Given the description of an element on the screen output the (x, y) to click on. 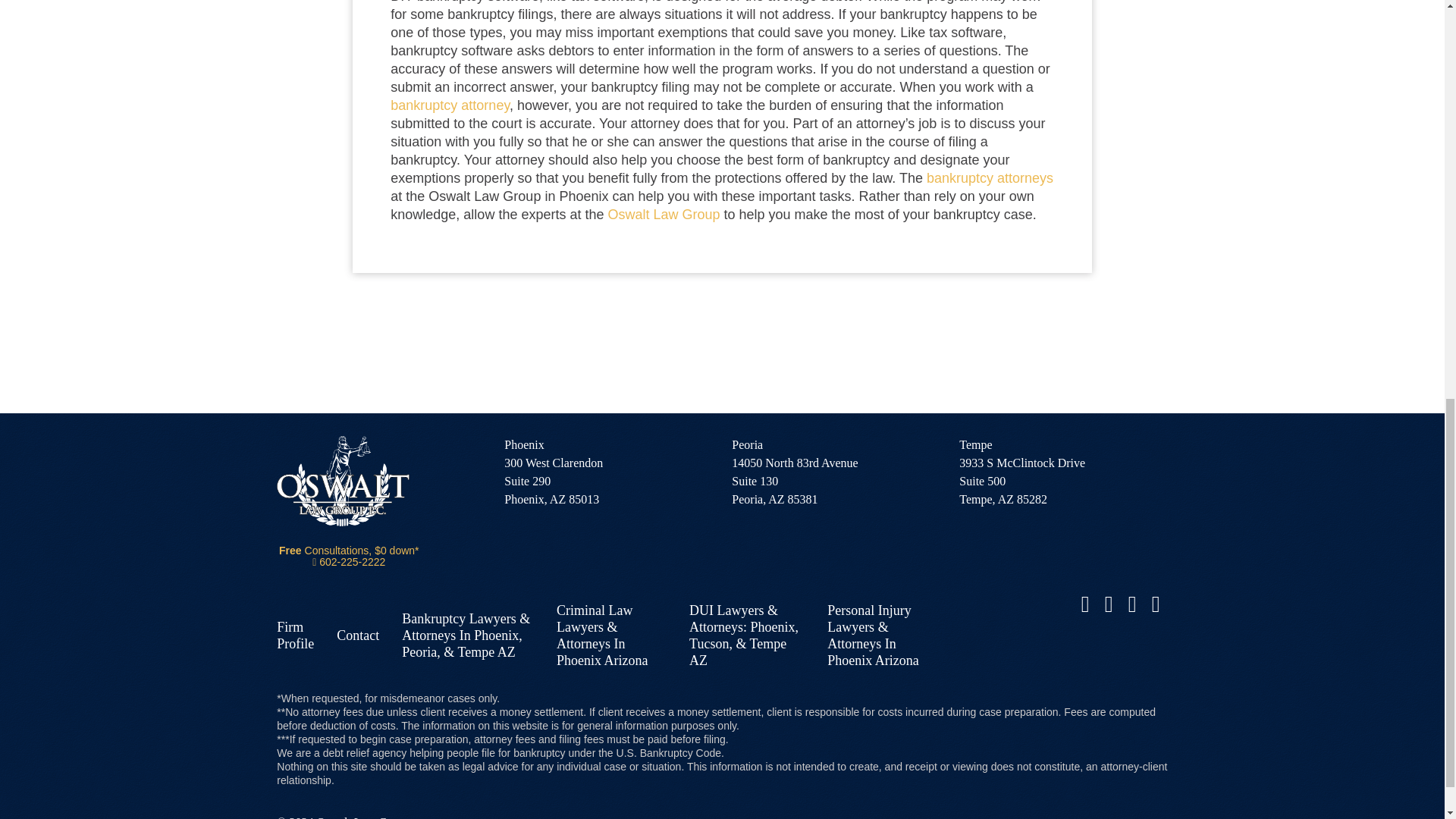
Oswalt Law Group (663, 214)
bankruptcy attorneys (989, 177)
bankruptcy attorney (449, 105)
